Given the description of an element on the screen output the (x, y) to click on. 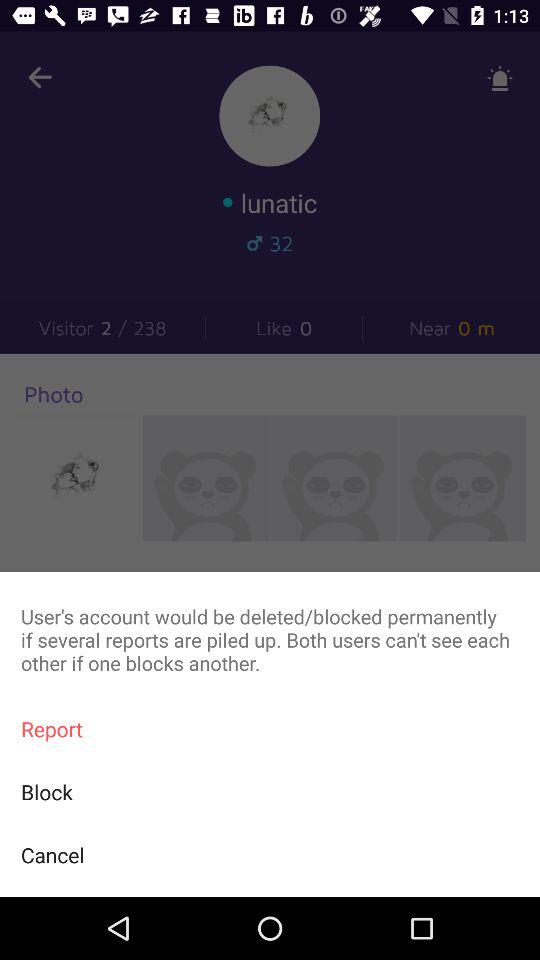
scroll to report (270, 728)
